Given the description of an element on the screen output the (x, y) to click on. 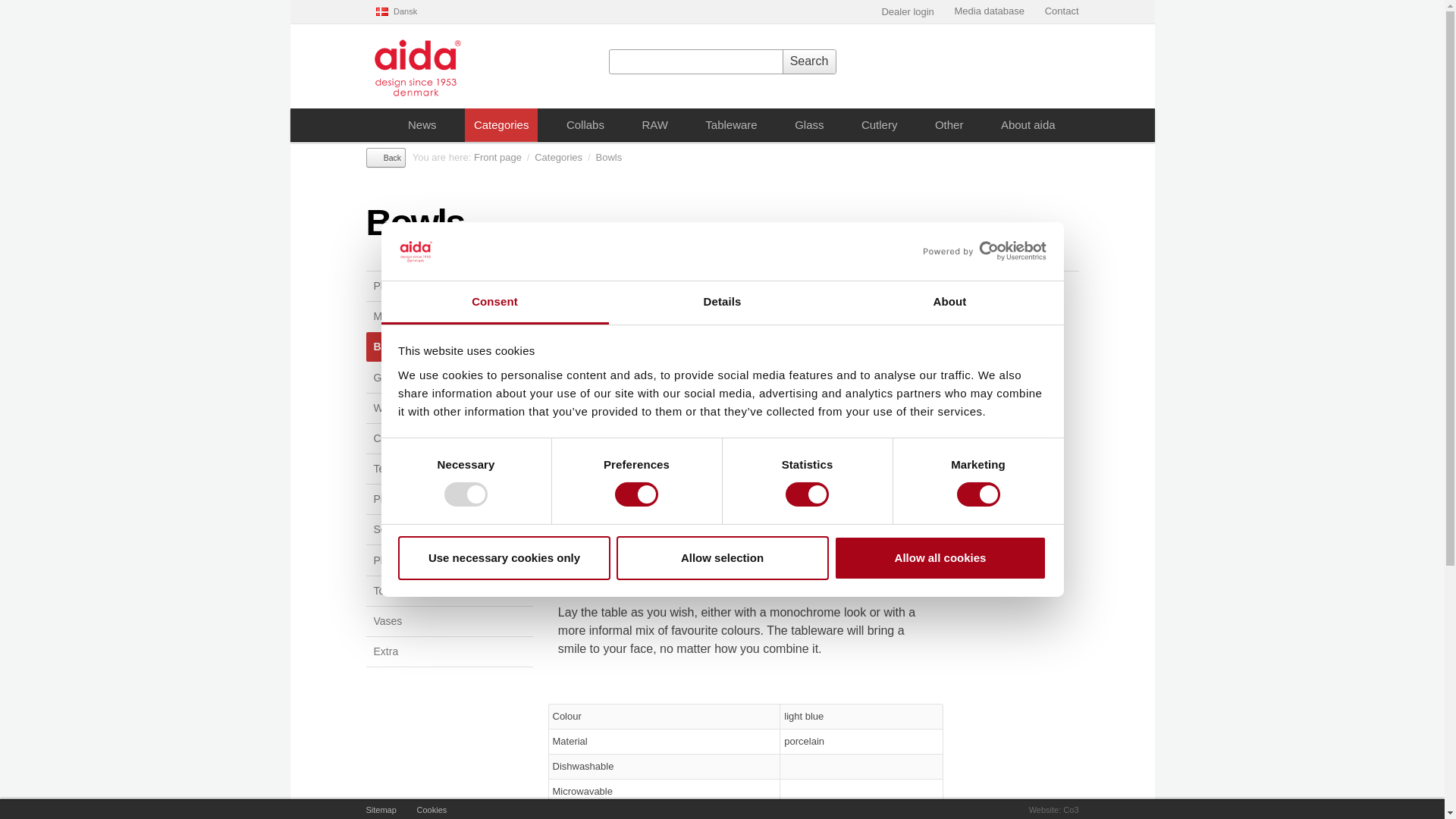
Allow selection (721, 557)
Use necessary cookies only (503, 557)
Allow all cookies (940, 557)
 Dansk (395, 11)
Consent (494, 302)
Dealer login (899, 11)
Details (721, 302)
About (948, 302)
